Given the description of an element on the screen output the (x, y) to click on. 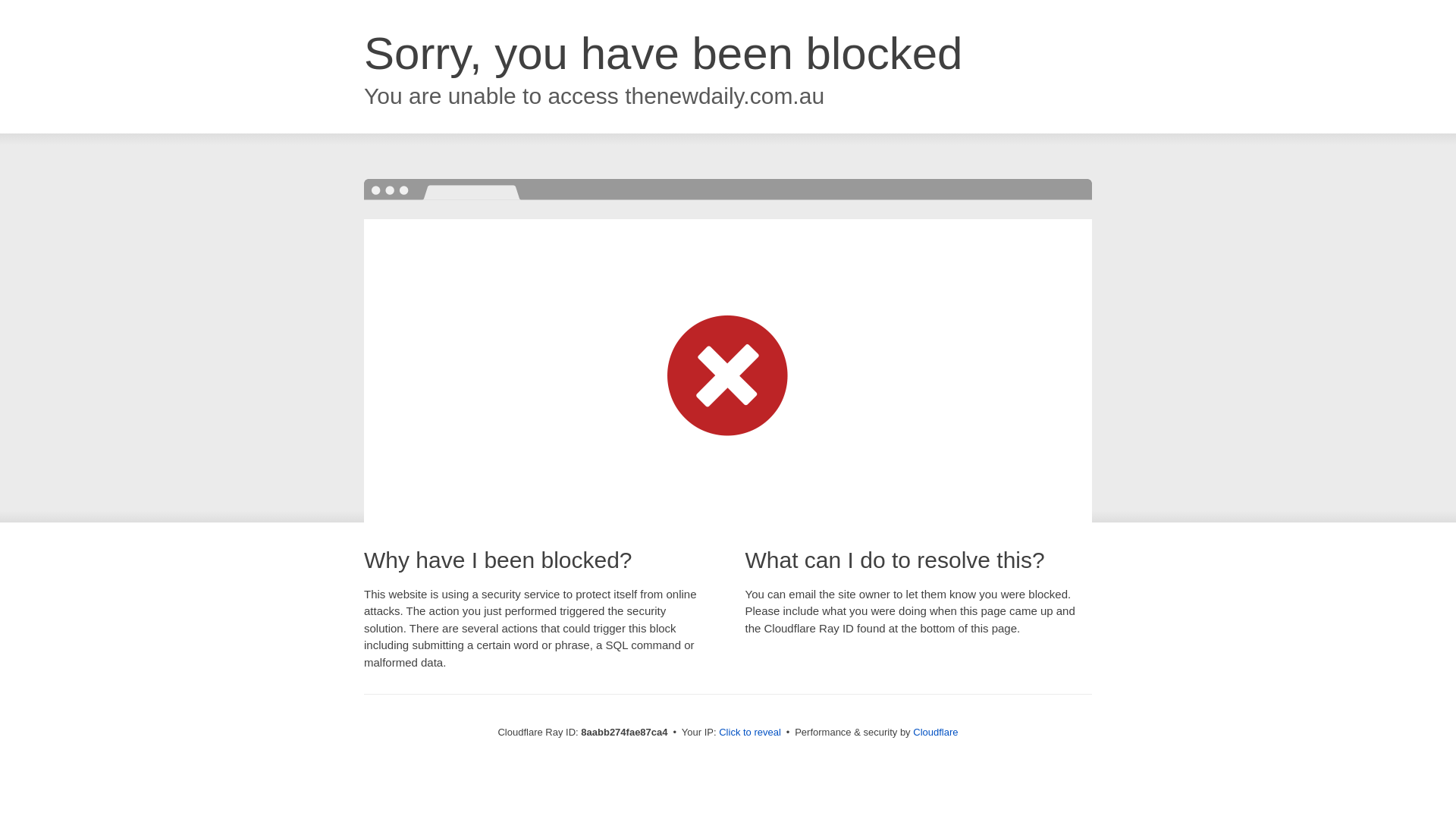
Click to reveal (749, 732)
Cloudflare (935, 731)
